Given the description of an element on the screen output the (x, y) to click on. 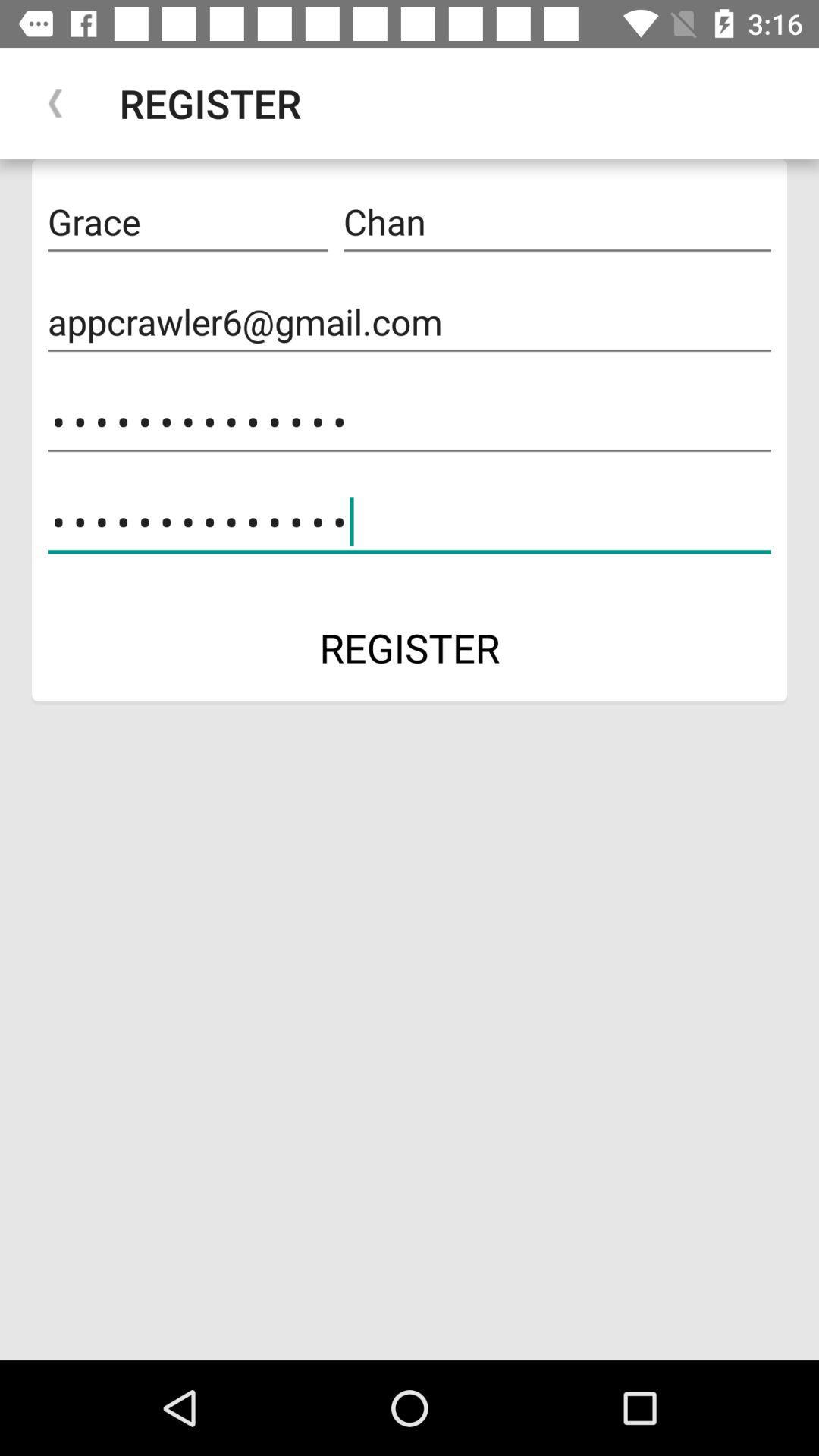
turn on the item to the left of the chan (187, 222)
